Given the description of an element on the screen output the (x, y) to click on. 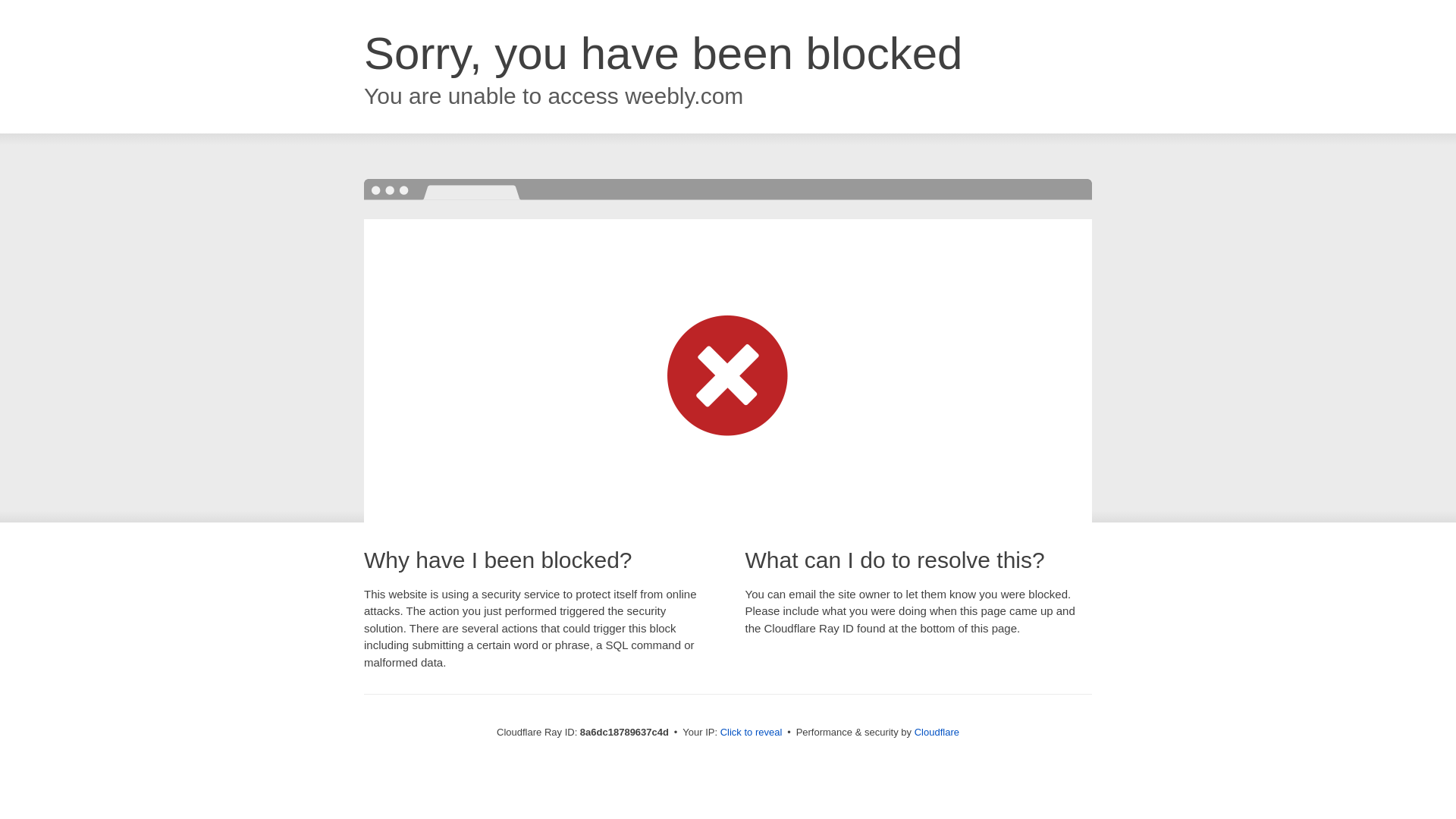
Cloudflare (936, 731)
Click to reveal (751, 732)
